Given the description of an element on the screen output the (x, y) to click on. 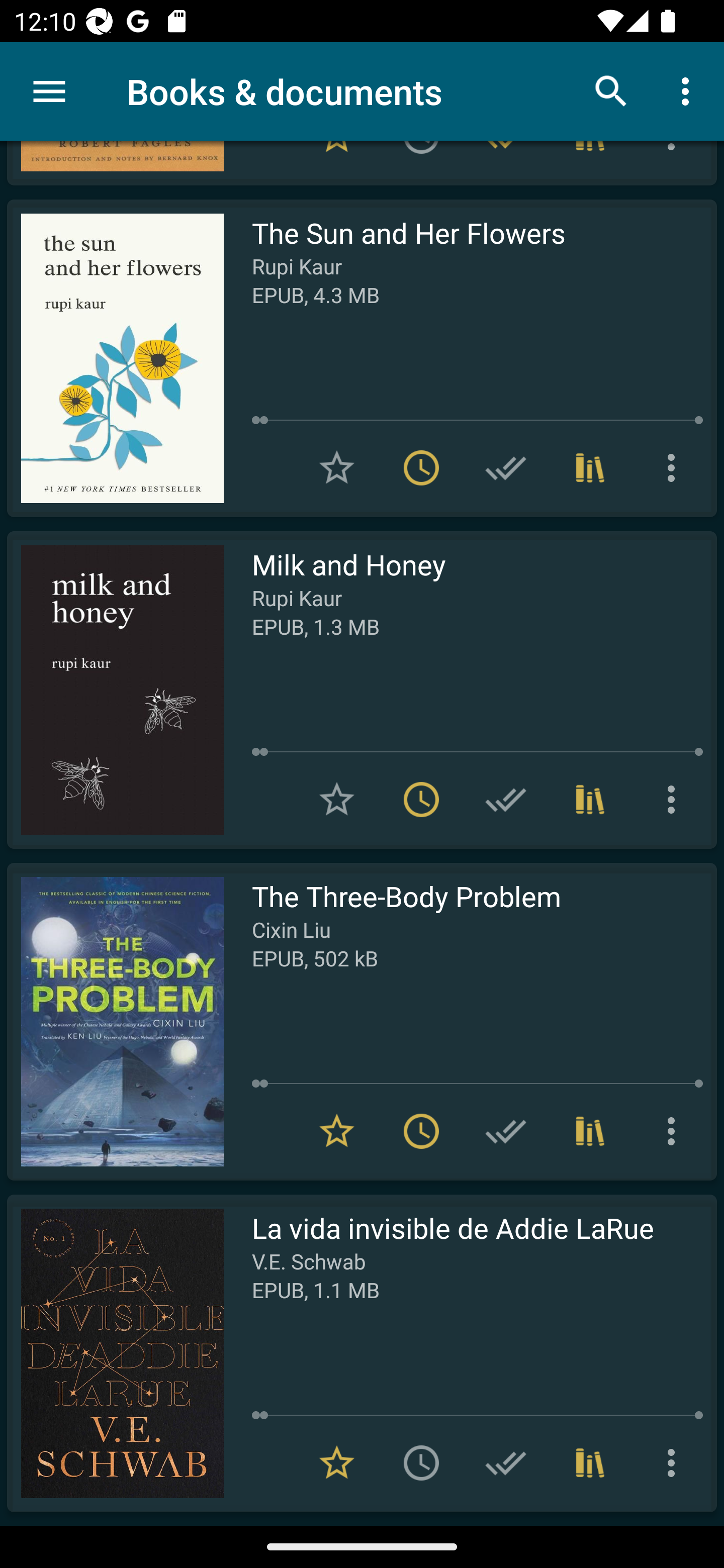
Menu (49, 91)
Search books & documents (611, 90)
More options (688, 90)
Read The Sun and Her Flowers (115, 358)
Add to Favorites (336, 466)
Remove from To read (421, 466)
Add to Have read (505, 466)
Collections (1) (590, 466)
More options (674, 466)
Read Milk and Honey (115, 689)
Add to Favorites (336, 799)
Remove from To read (421, 799)
Add to Have read (505, 799)
Collections (2) (590, 799)
More options (674, 799)
Read The Three-Body Problem (115, 1021)
Remove from Favorites (336, 1130)
Remove from To read (421, 1130)
Add to Have read (505, 1130)
Collections (1) (590, 1130)
More options (674, 1130)
Read La vida invisible de Addie LaRue (115, 1352)
Remove from Favorites (336, 1462)
Add to To read (421, 1462)
Add to Have read (505, 1462)
Collections (1) (590, 1462)
More options (674, 1462)
